Given the description of an element on the screen output the (x, y) to click on. 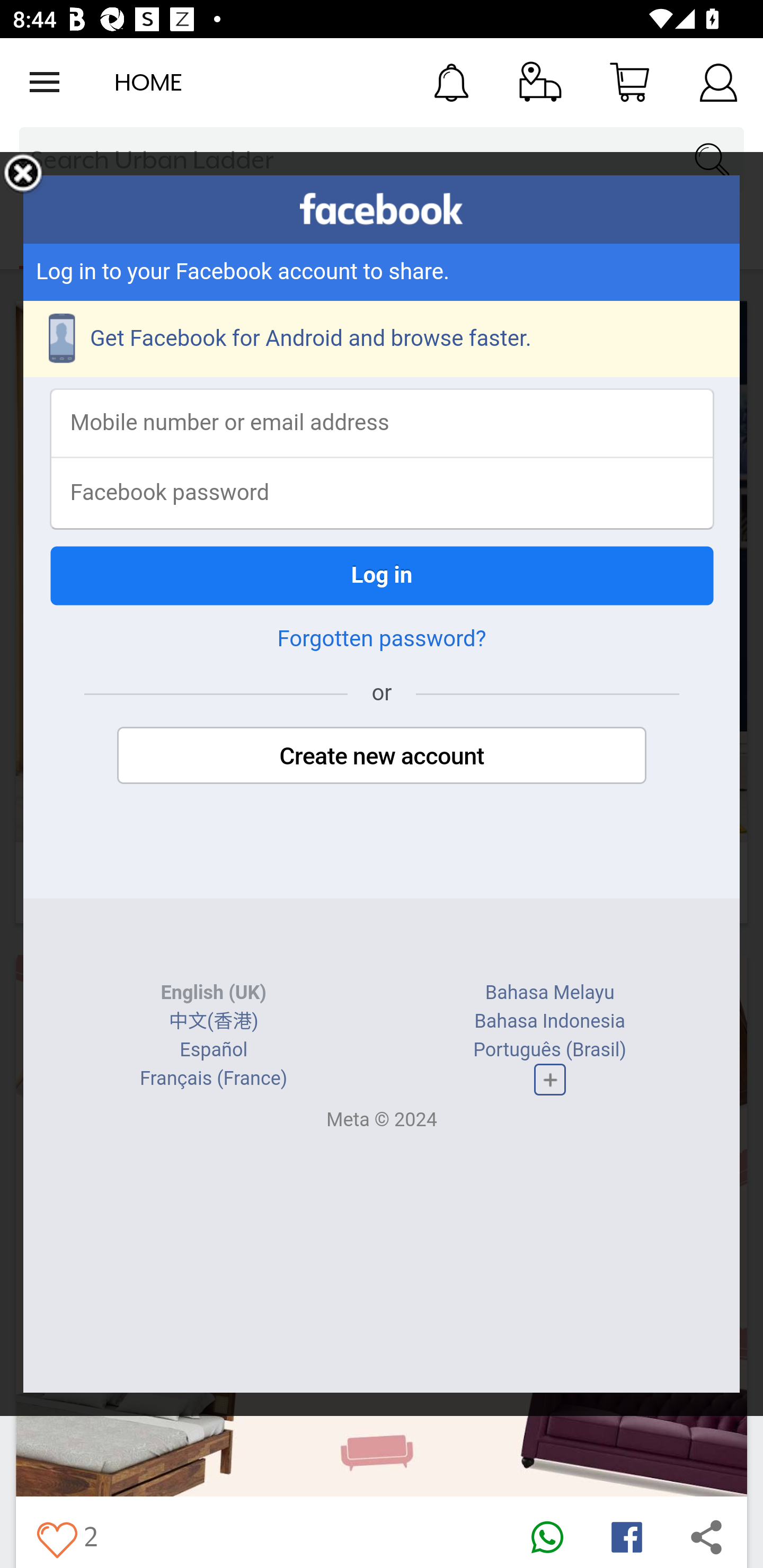
facebook (381, 208)
Get Facebook for Android and browse faster. (381, 339)
Log in (381, 575)
Forgotten password? (381, 638)
Create new account (381, 755)
Bahasa Melayu (549, 993)
中文(香港) (212, 1021)
Bahasa Indonesia (549, 1021)
Español (213, 1049)
Português (Brasil) (550, 1049)
Complete list of languages (548, 1079)
Français (France) (213, 1078)
